Given the description of an element on the screen output the (x, y) to click on. 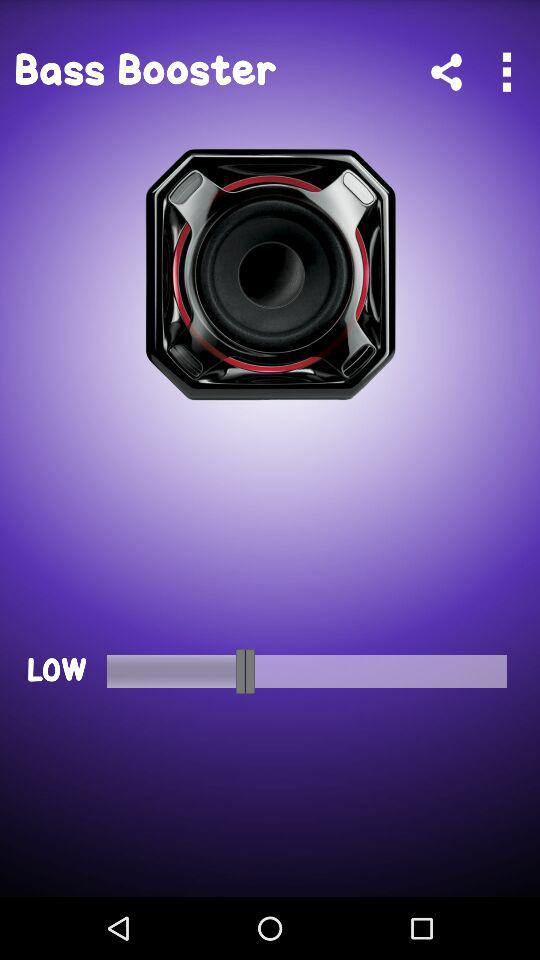
share to others (446, 72)
